Given the description of an element on the screen output the (x, y) to click on. 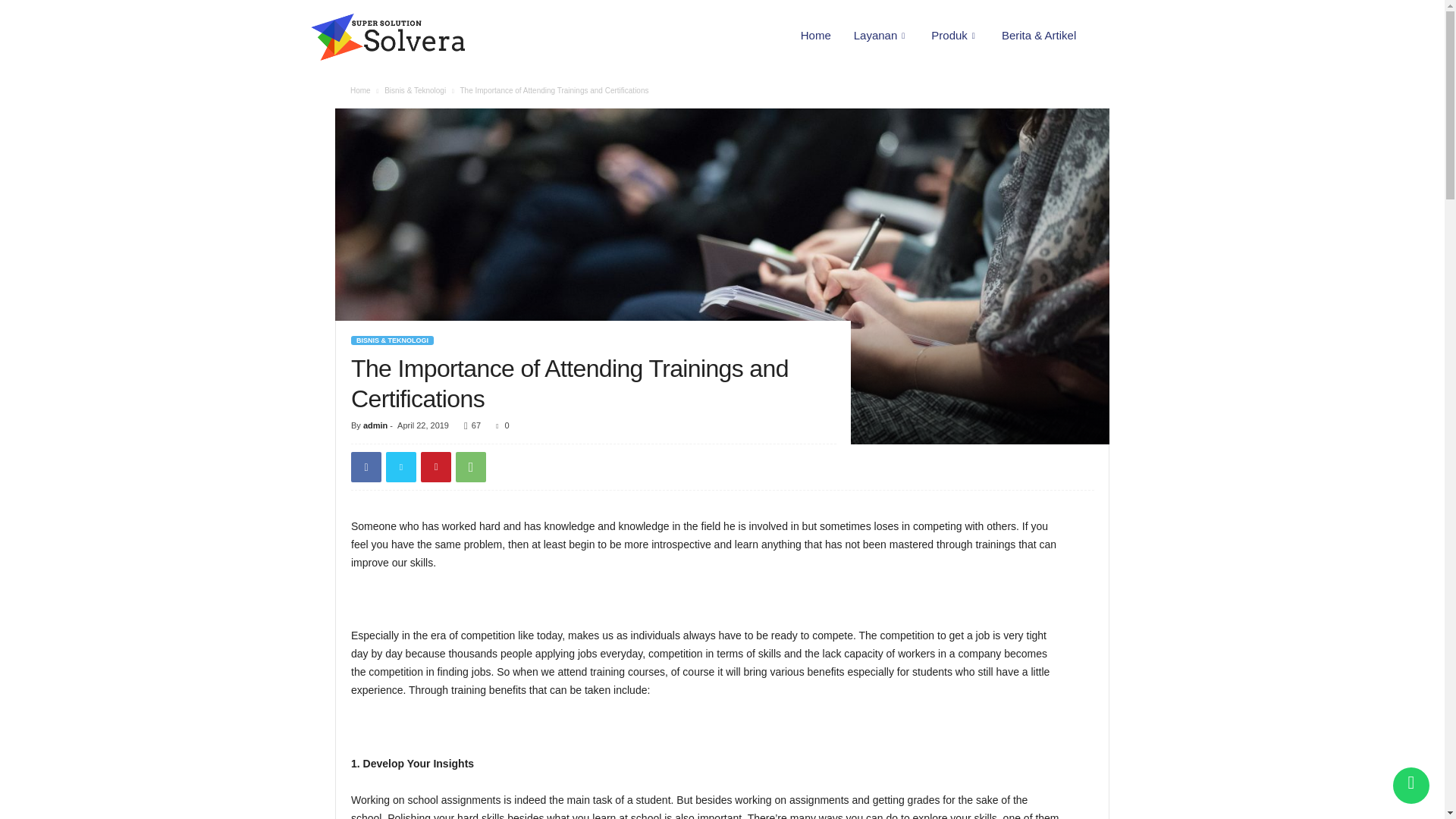
Layanan (881, 35)
Home (816, 35)
WhatsApp (470, 467)
Pinterest (435, 467)
Produk (955, 35)
Facebook (365, 467)
Twitter (400, 467)
